Given the description of an element on the screen output the (x, y) to click on. 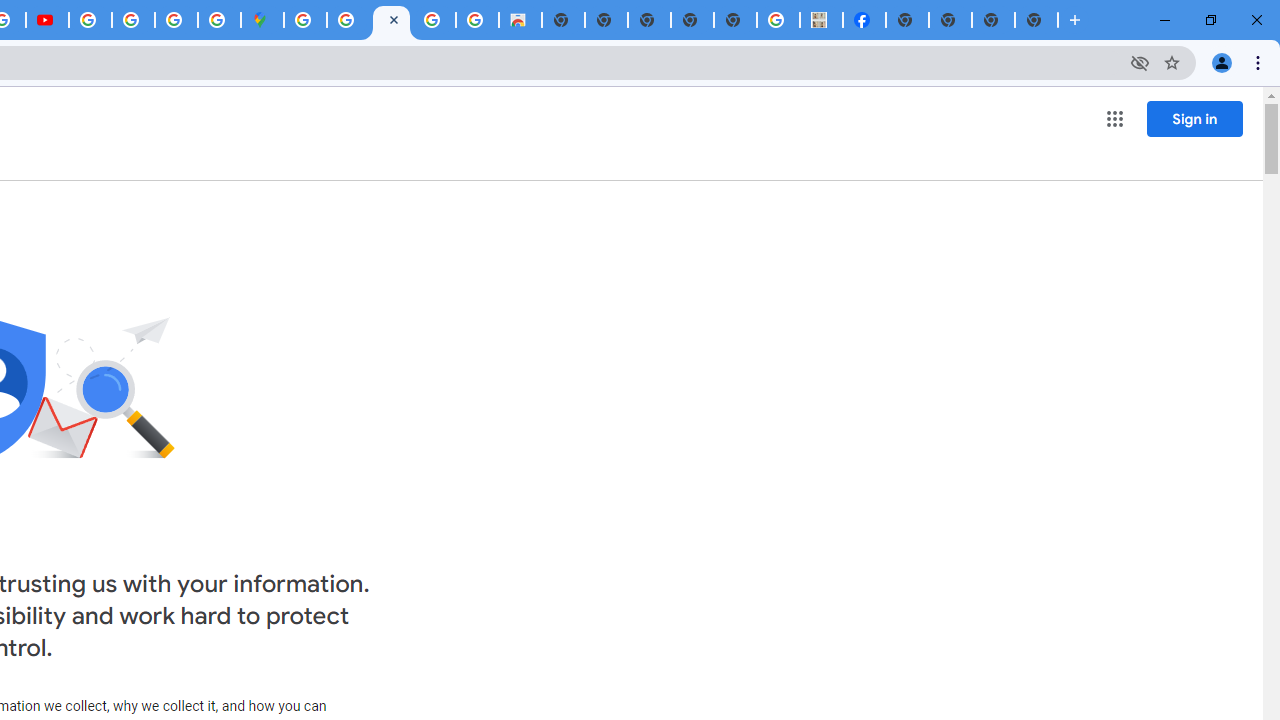
Google Maps (262, 20)
Miley Cyrus | Facebook (864, 20)
New Tab (1036, 20)
Subscriptions - YouTube (47, 20)
Sign in - Google Accounts (305, 20)
